Given the description of an element on the screen output the (x, y) to click on. 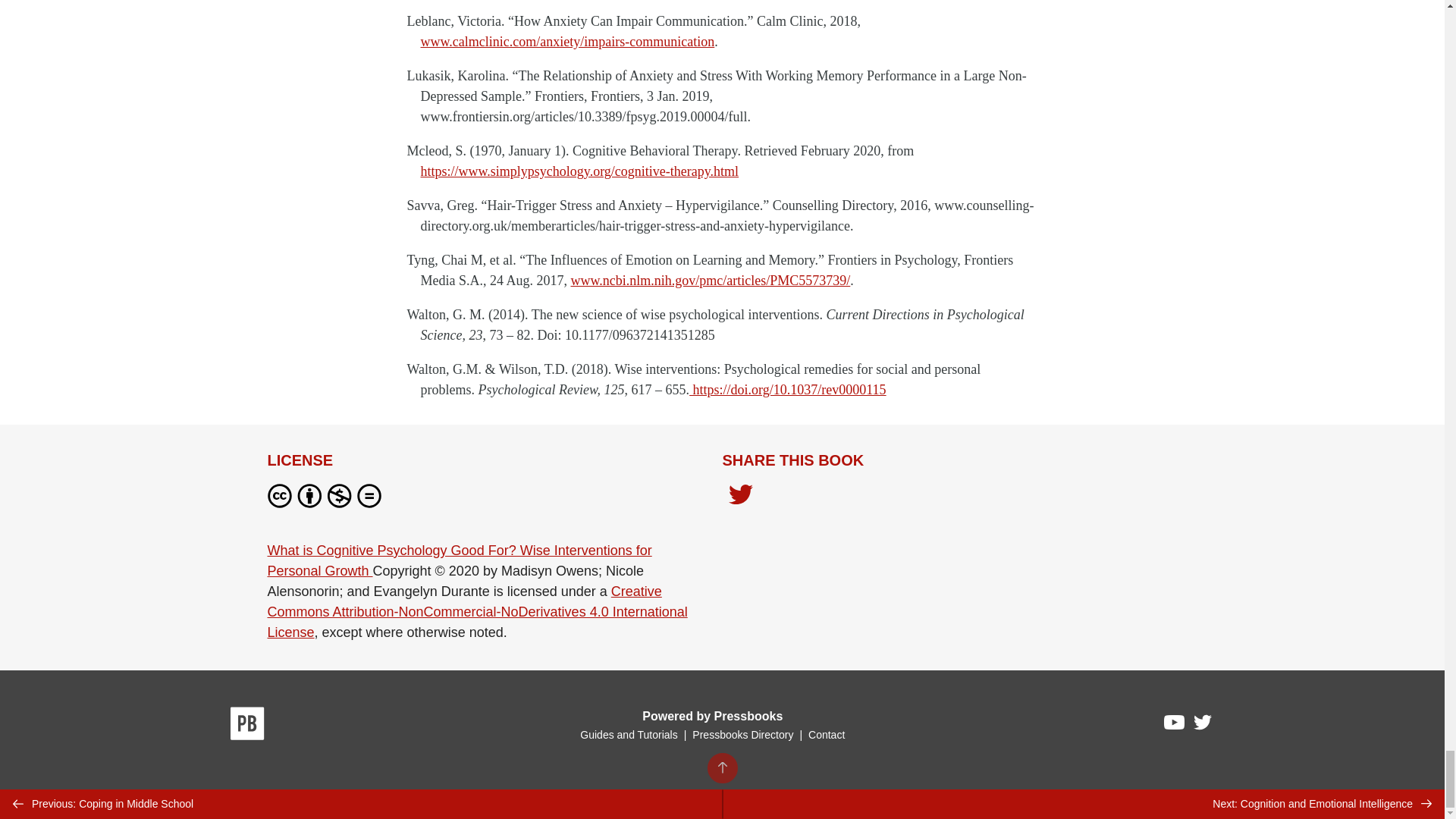
Powered by Pressbooks (712, 716)
Guides and Tutorials (627, 734)
Pressbooks on Twitter (1202, 725)
Contact (826, 734)
Pressbooks Directory (742, 734)
Share on Twitter (740, 498)
Share on Twitter (740, 495)
Pressbooks (247, 726)
Pressbooks on YouTube (1174, 725)
